Given the description of an element on the screen output the (x, y) to click on. 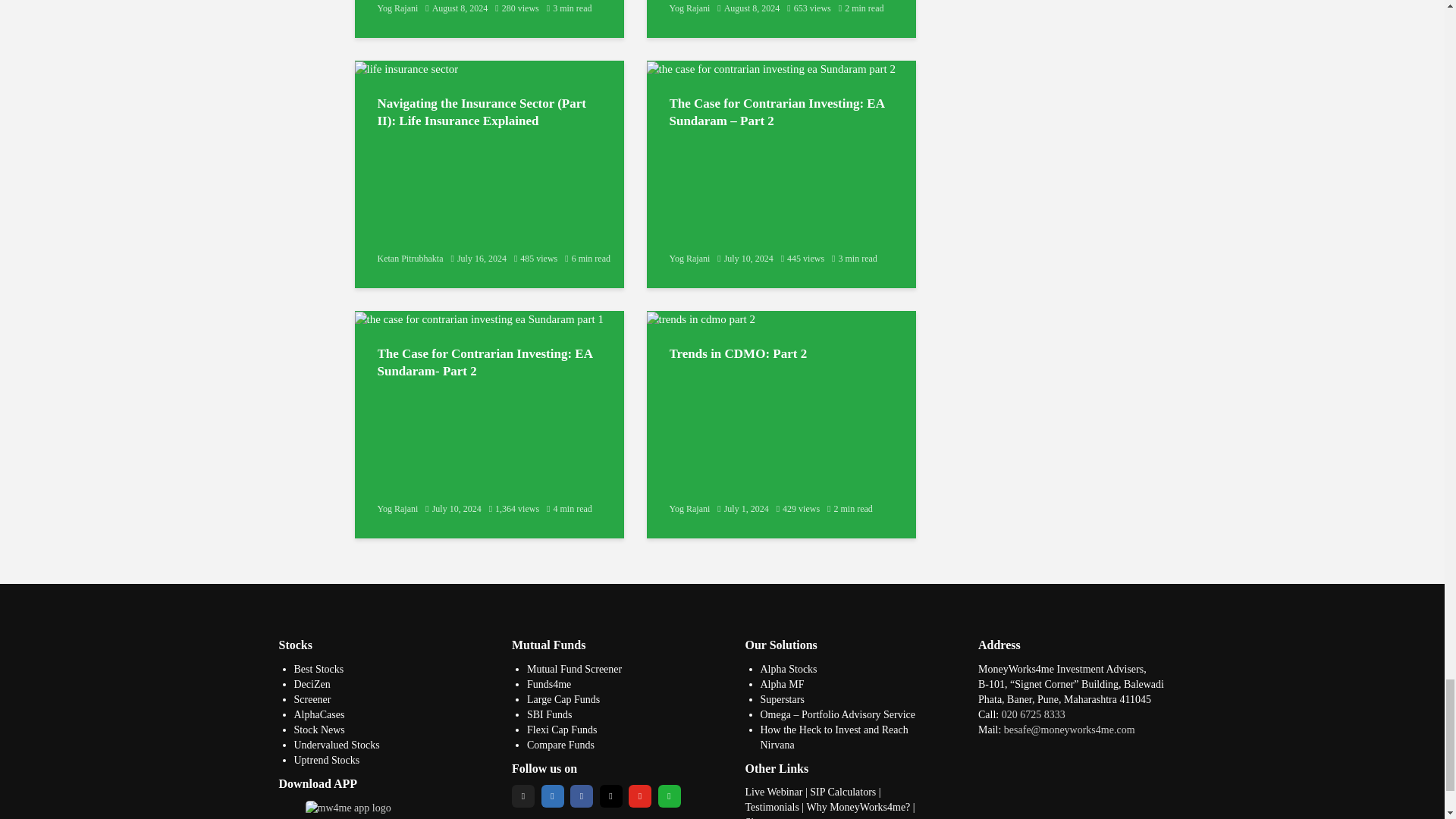
YouTube (639, 795)
Linkedin (552, 795)
Facebook (581, 795)
WhatsApp (669, 795)
Trends in CDMO: Part 2 (700, 318)
Instagram (609, 795)
The Case for Contrarian Investing: EA Sundaram- Part 2 (479, 318)
